Given the description of an element on the screen output the (x, y) to click on. 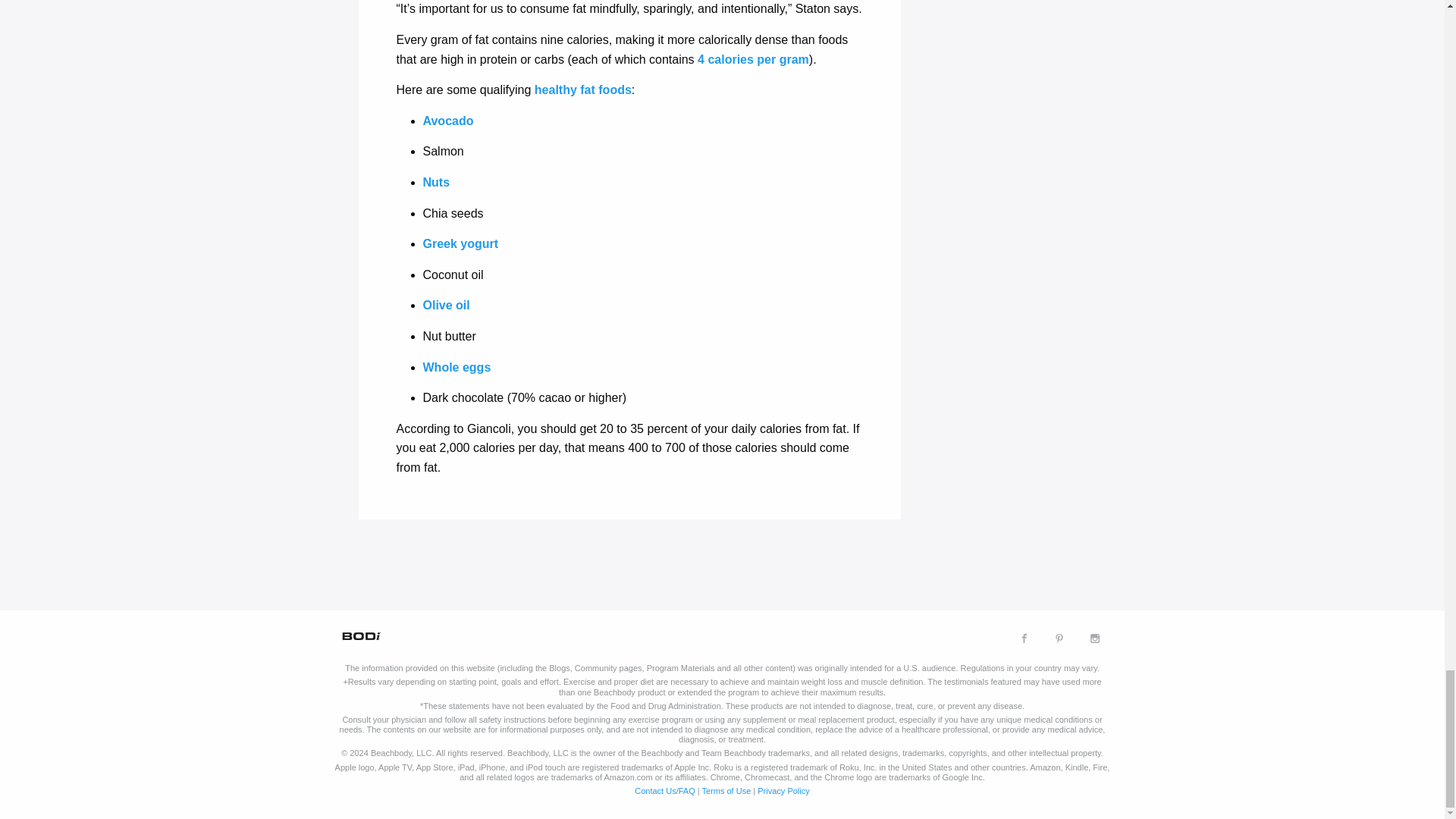
Beachbody on Demand (360, 635)
